Given the description of an element on the screen output the (x, y) to click on. 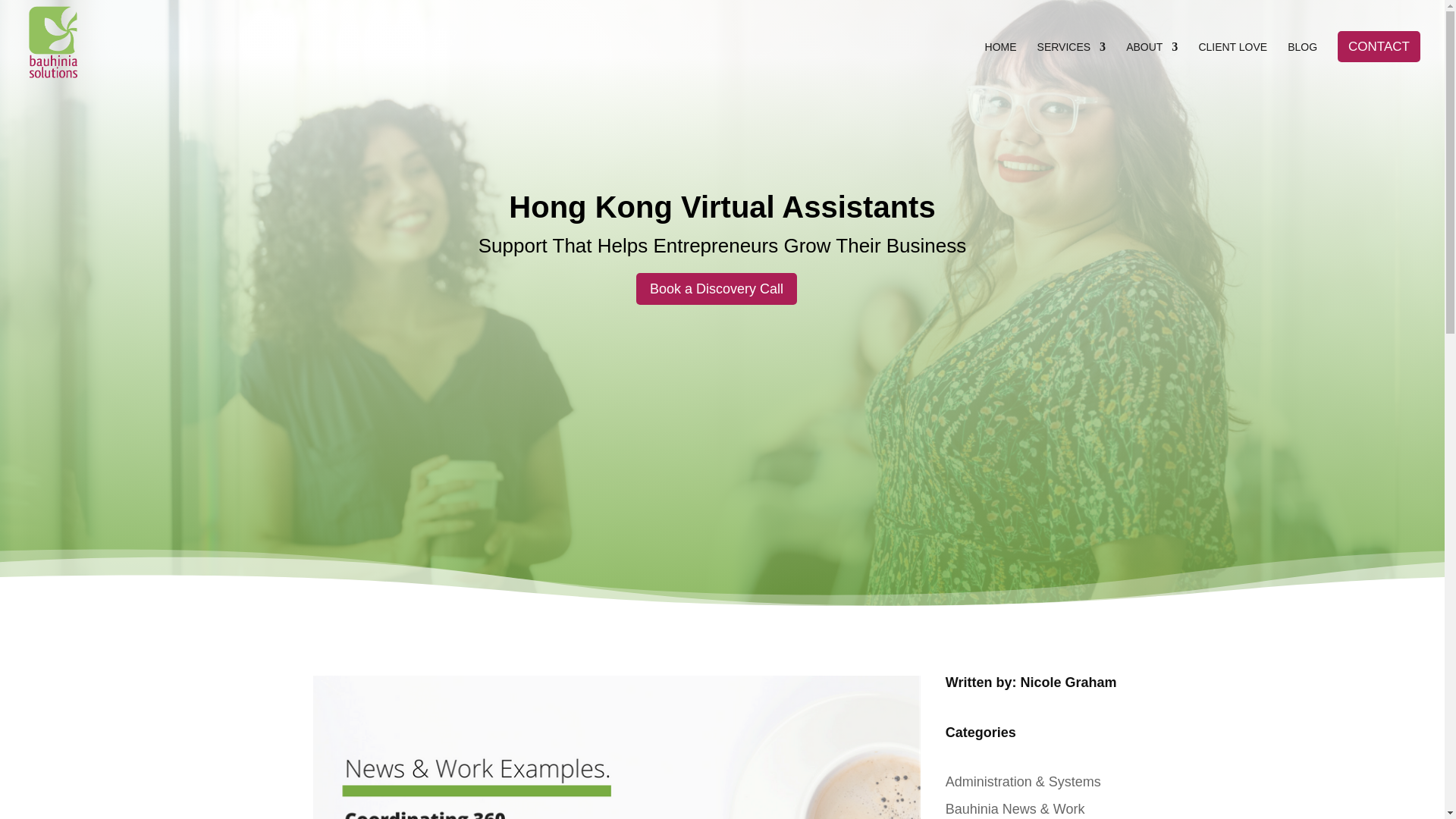
SERVICES (1071, 62)
ABOUT (1151, 62)
Book a Discovery Call (716, 287)
CLIENT LOVE (1232, 62)
coordinating 360 assessments (616, 747)
CONTACT (1378, 51)
